Given the description of an element on the screen output the (x, y) to click on. 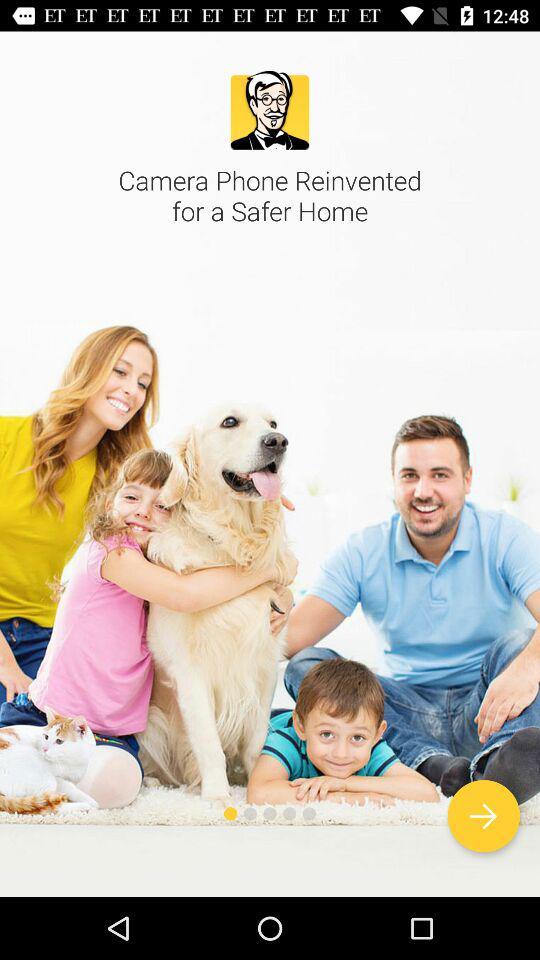
open the item below camera phone reinvented icon (483, 816)
